Given the description of an element on the screen output the (x, y) to click on. 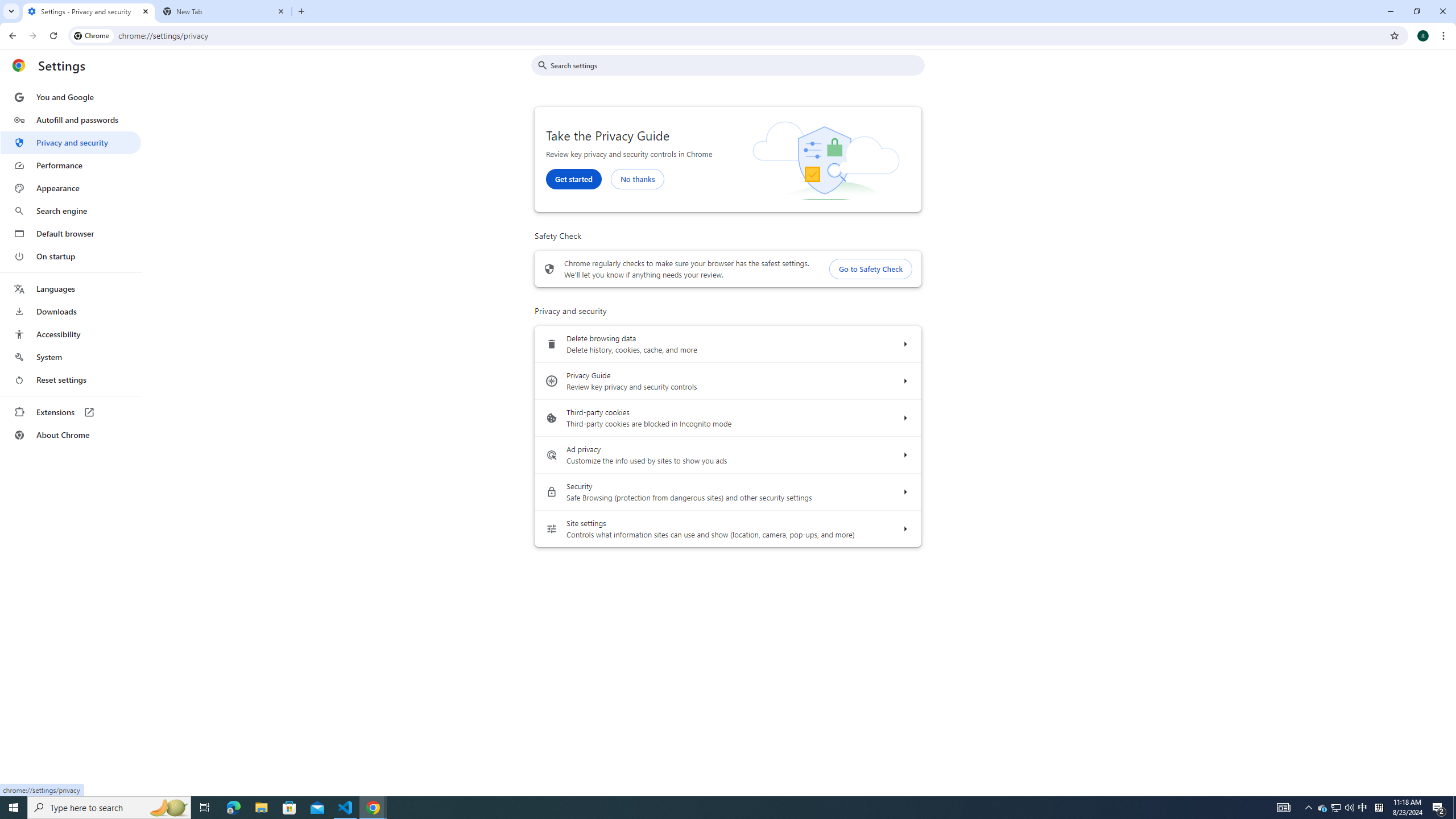
Default browser (70, 233)
Downloads (70, 311)
Autofill and passwords (70, 119)
On startup (70, 255)
Privacy and security (70, 142)
AutomationID: menu (71, 265)
